Given the description of an element on the screen output the (x, y) to click on. 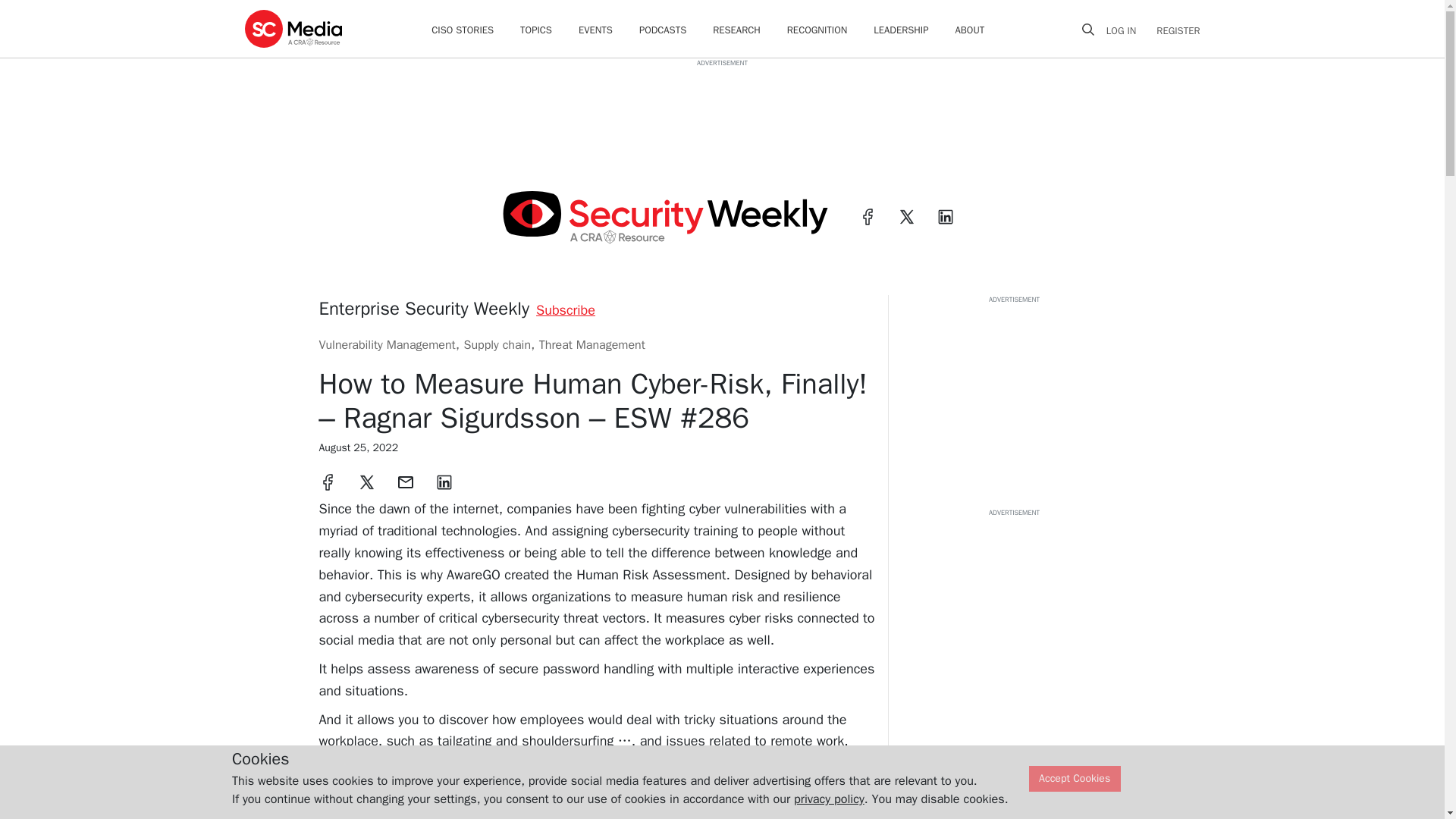
SC Media (292, 27)
PODCASTS (662, 30)
Vulnerability Management (386, 344)
Share on LinkedIn (443, 482)
LOG IN (1126, 30)
Share on Facebook (327, 482)
TOPICS (535, 30)
Share on Twitter (366, 482)
Threat Management (591, 344)
twitter (906, 217)
linkedin (945, 217)
Supply chain (497, 344)
Enterprise Security Weekly (423, 308)
facebook (868, 217)
RESEARCH (736, 30)
